Given the description of an element on the screen output the (x, y) to click on. 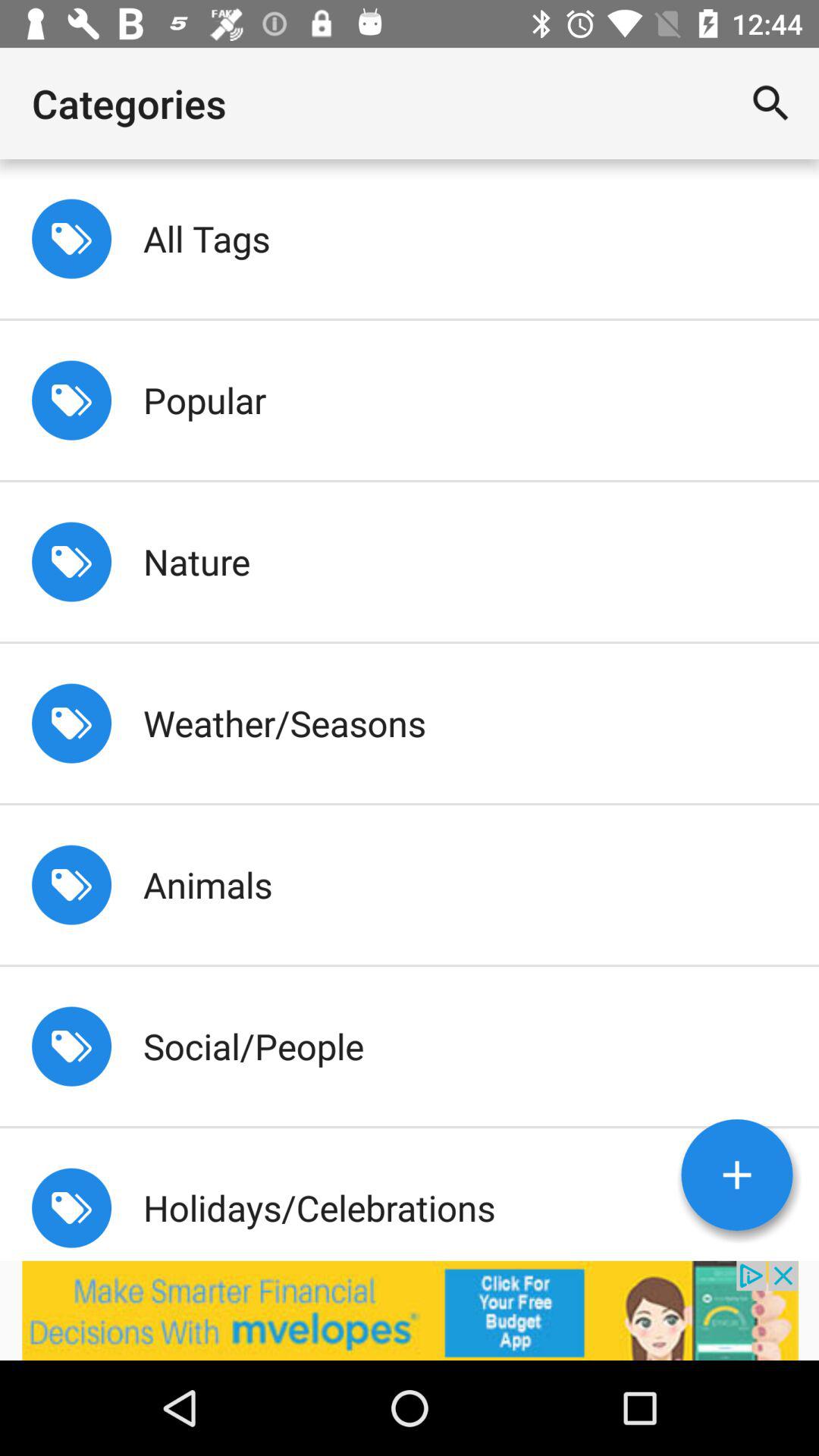
more option (737, 1174)
